Given the description of an element on the screen output the (x, y) to click on. 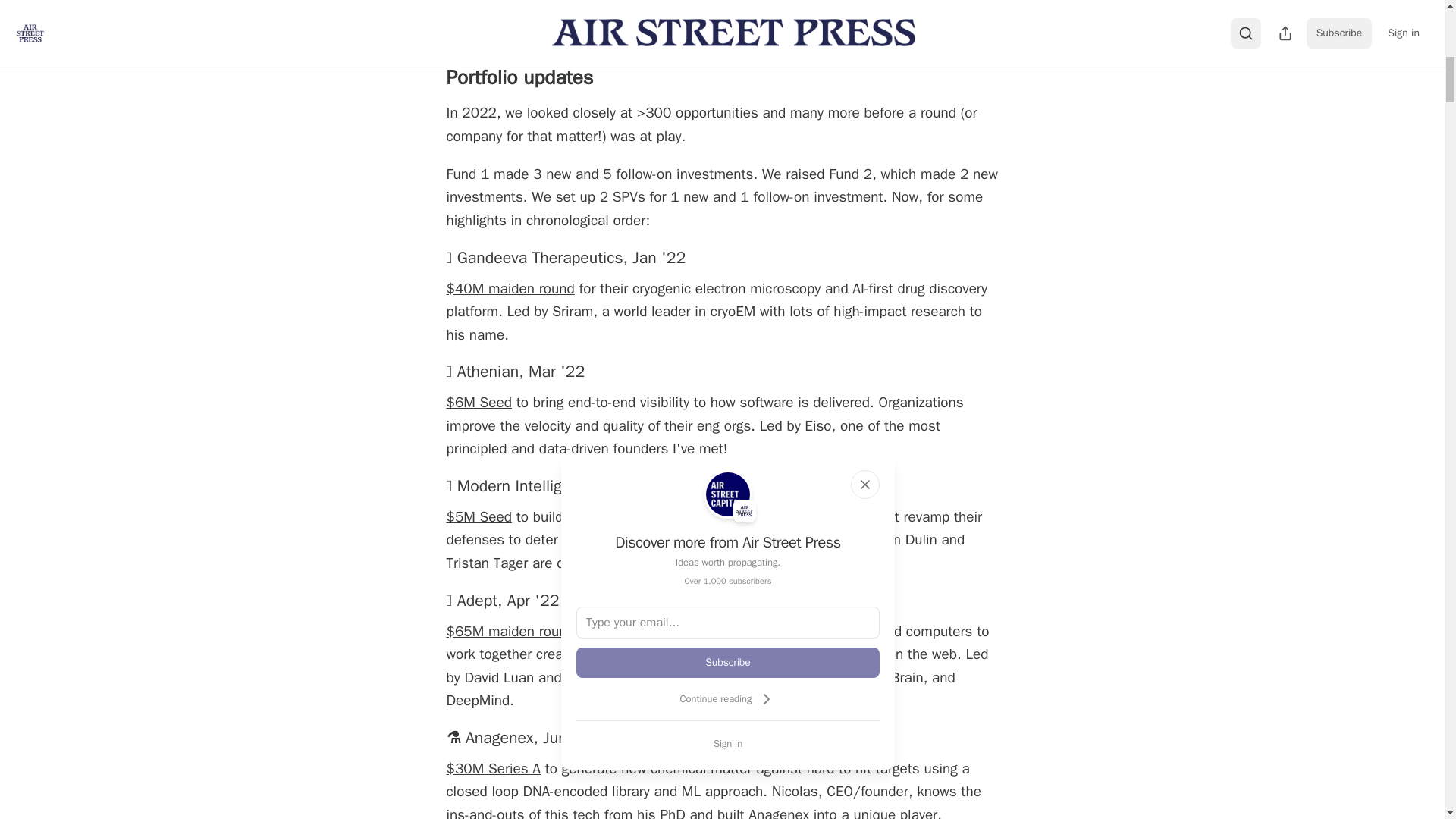
Sign in (727, 743)
Subscribe (727, 662)
